Given the description of an element on the screen output the (x, y) to click on. 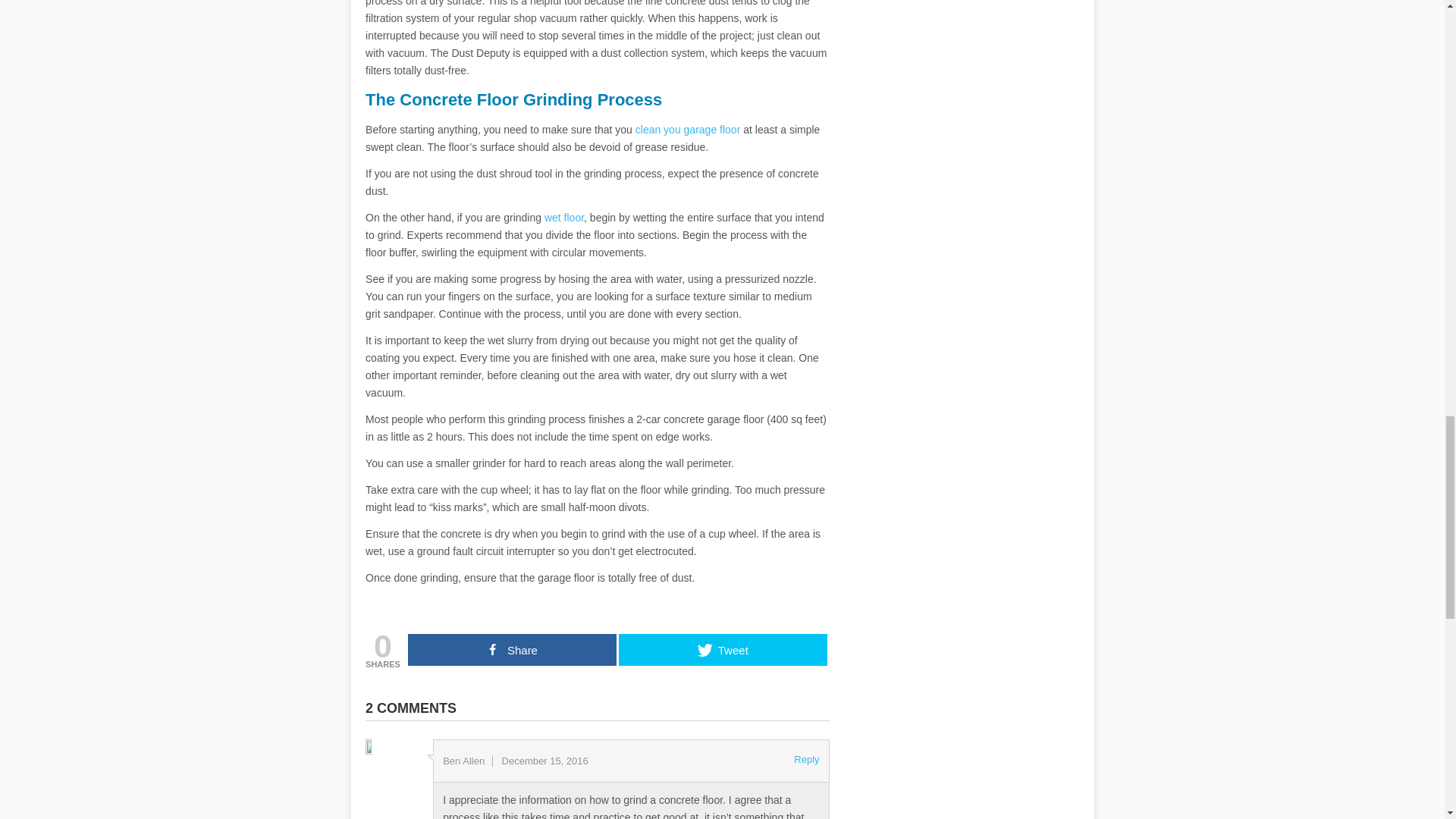
wet floor (563, 217)
Tweet (722, 649)
Share (511, 649)
clean you garage floor (687, 129)
Reply (805, 759)
